Given the description of an element on the screen output the (x, y) to click on. 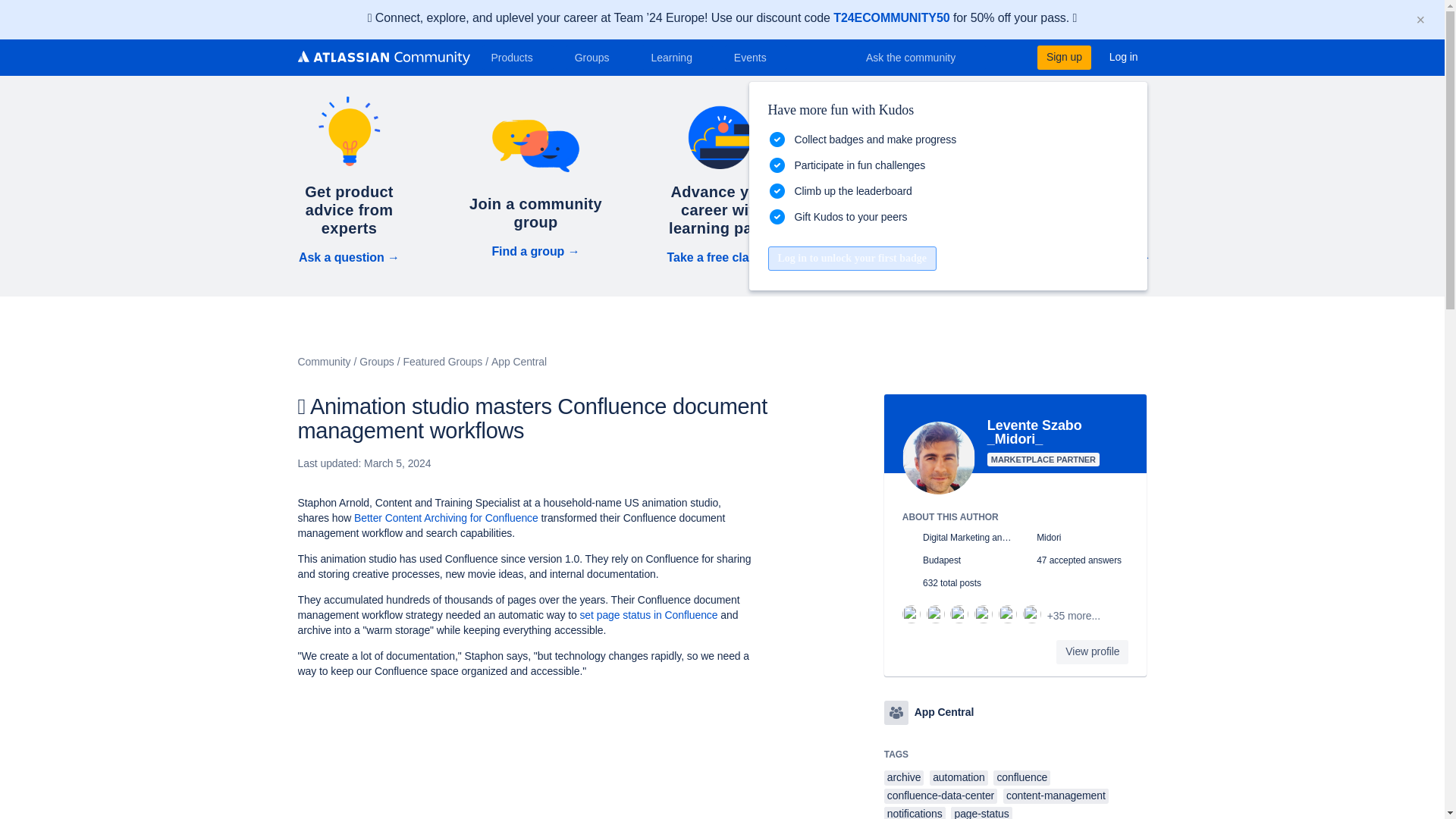
Products (517, 57)
groups-icon (895, 712)
Atlassian Community logo (382, 57)
YouTube video player (509, 754)
Log in (1123, 57)
Log in to unlock your first badge (851, 258)
T24ECOMMUNITY50 (890, 17)
Sign up (1063, 57)
Ask the community  (921, 57)
Groups (598, 57)
